Given the description of an element on the screen output the (x, y) to click on. 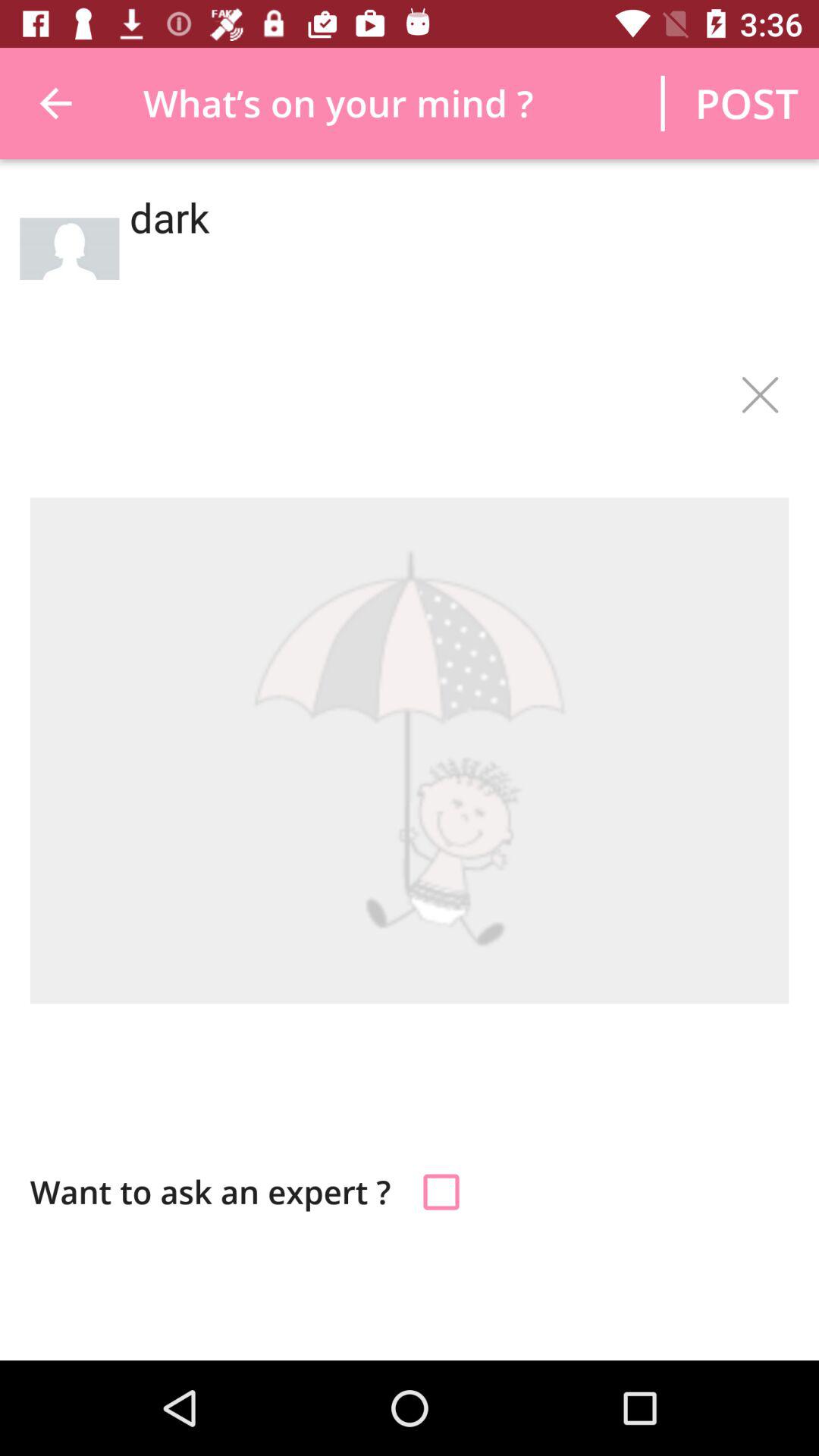
click item below the post (454, 265)
